Given the description of an element on the screen output the (x, y) to click on. 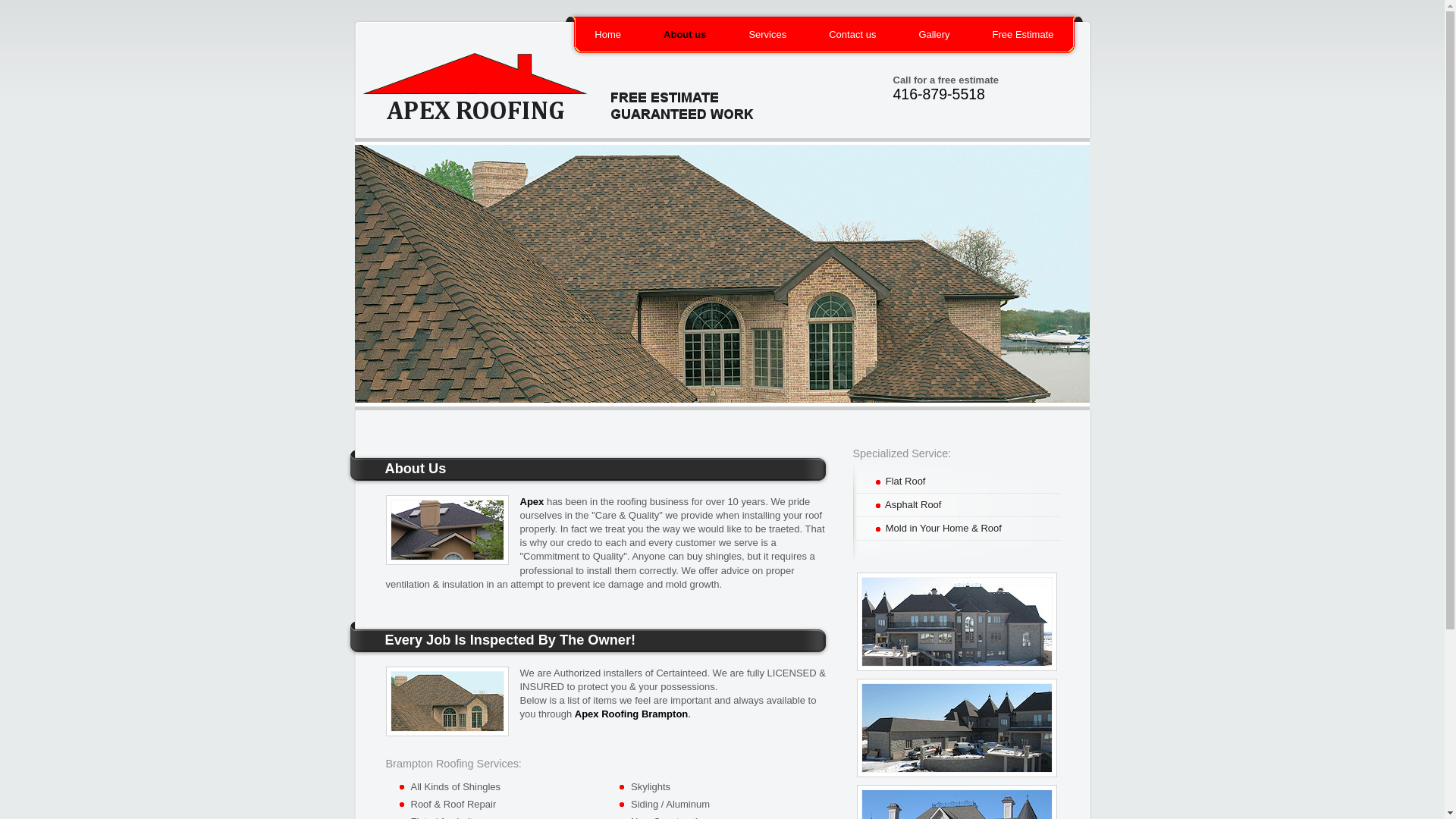
About us Element type: text (684, 34)
Free Estimate Element type: text (1022, 34)
Home Element type: text (607, 34)
Apex Roofing Element type: hover (571, 73)
Contact us Element type: text (852, 34)
Services Element type: text (767, 34)
Gallery Element type: text (933, 34)
